Given the description of an element on the screen output the (x, y) to click on. 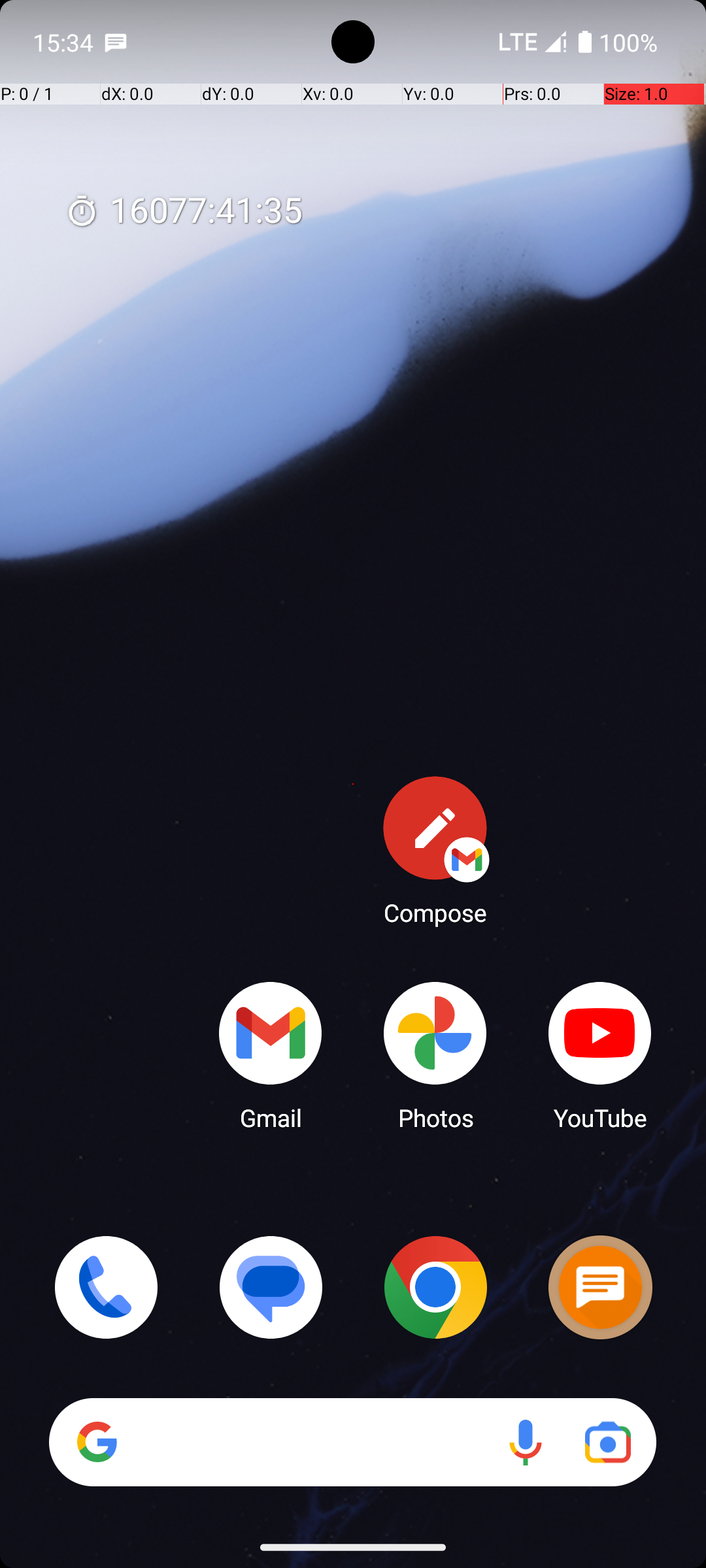
16077:41:35 Element type: android.widget.TextView (183, 210)
